Given the description of an element on the screen output the (x, y) to click on. 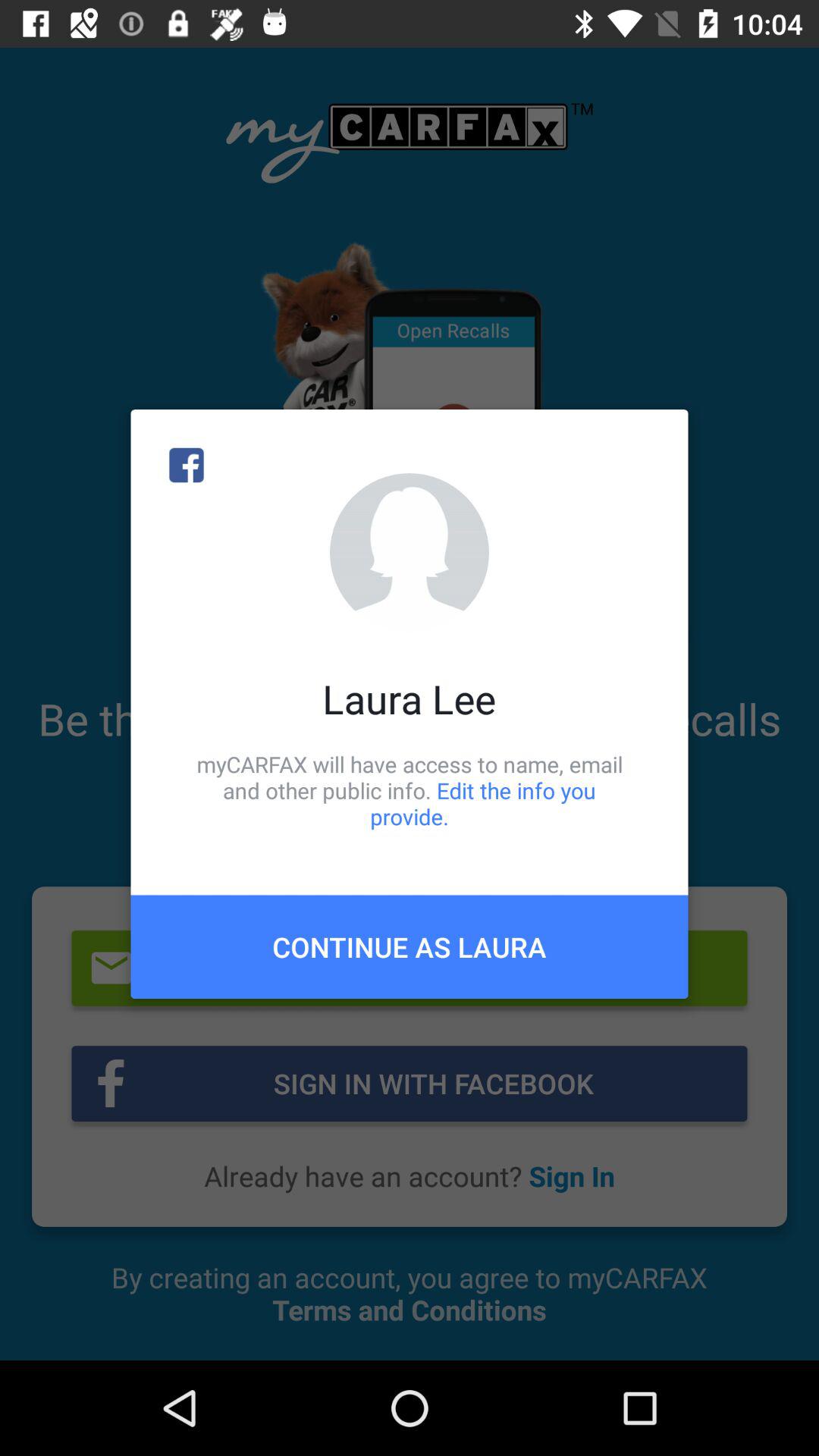
flip until the mycarfax will have item (409, 790)
